Given the description of an element on the screen output the (x, y) to click on. 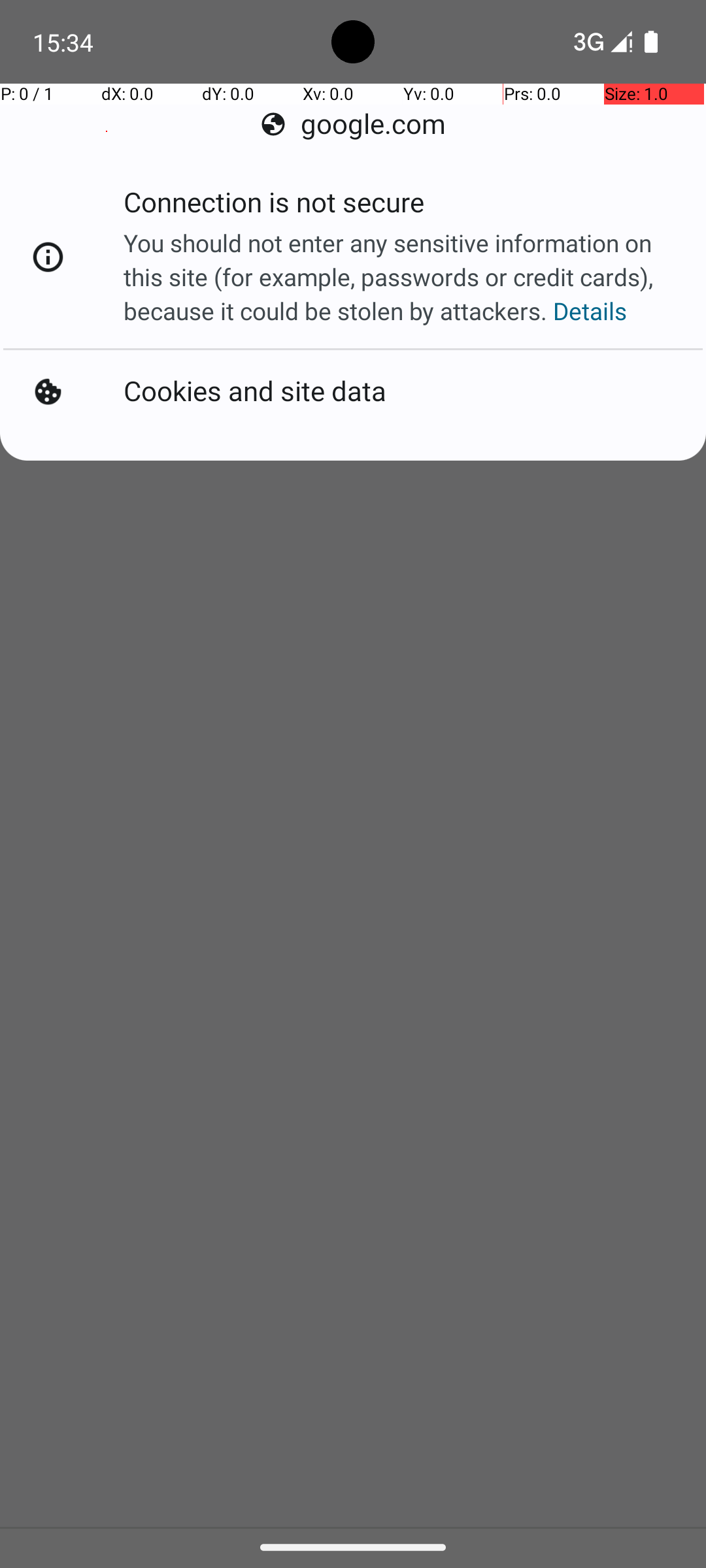
google.com Element type: android.widget.TextView (352, 124)
Connection is not secure Element type: android.widget.TextView (273, 206)
You should not enter any sensitive information on this site (for example, passwords or credit cards), because it could be stolen by attackers. Details Element type: android.widget.TextView (400, 276)
Cookies and site data Element type: android.widget.TextView (254, 391)
